Given the description of an element on the screen output the (x, y) to click on. 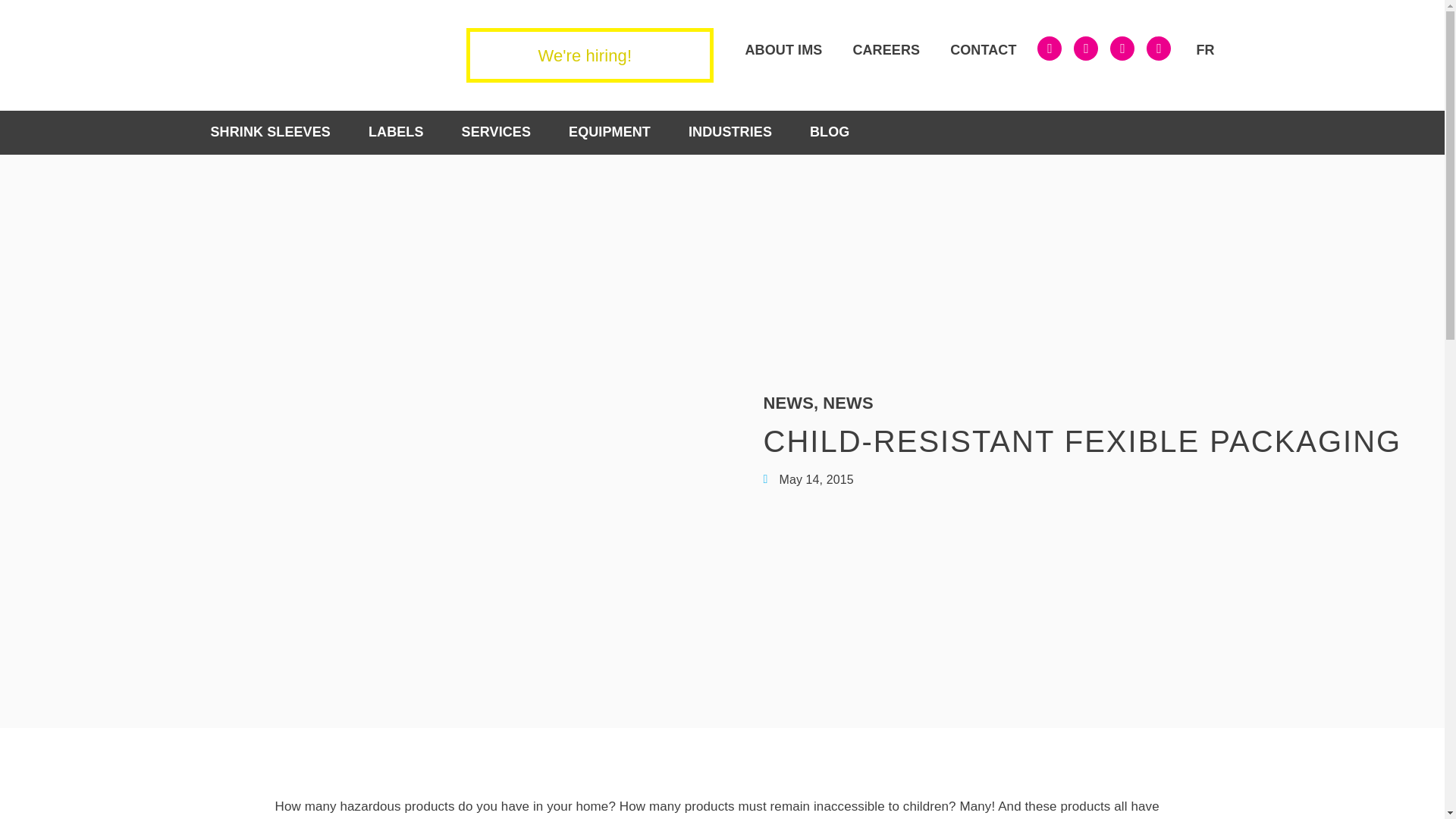
Linkedin (1048, 48)
Instagram (1121, 48)
CAREERS (885, 49)
Facebook (1085, 48)
FR (1202, 49)
LABELS (395, 132)
ABOUT IMS (783, 49)
SHRINK SLEEVES (269, 132)
FR (1202, 49)
CONTACT (982, 49)
SERVICES (496, 132)
Youtube (1158, 48)
